Given the description of an element on the screen output the (x, y) to click on. 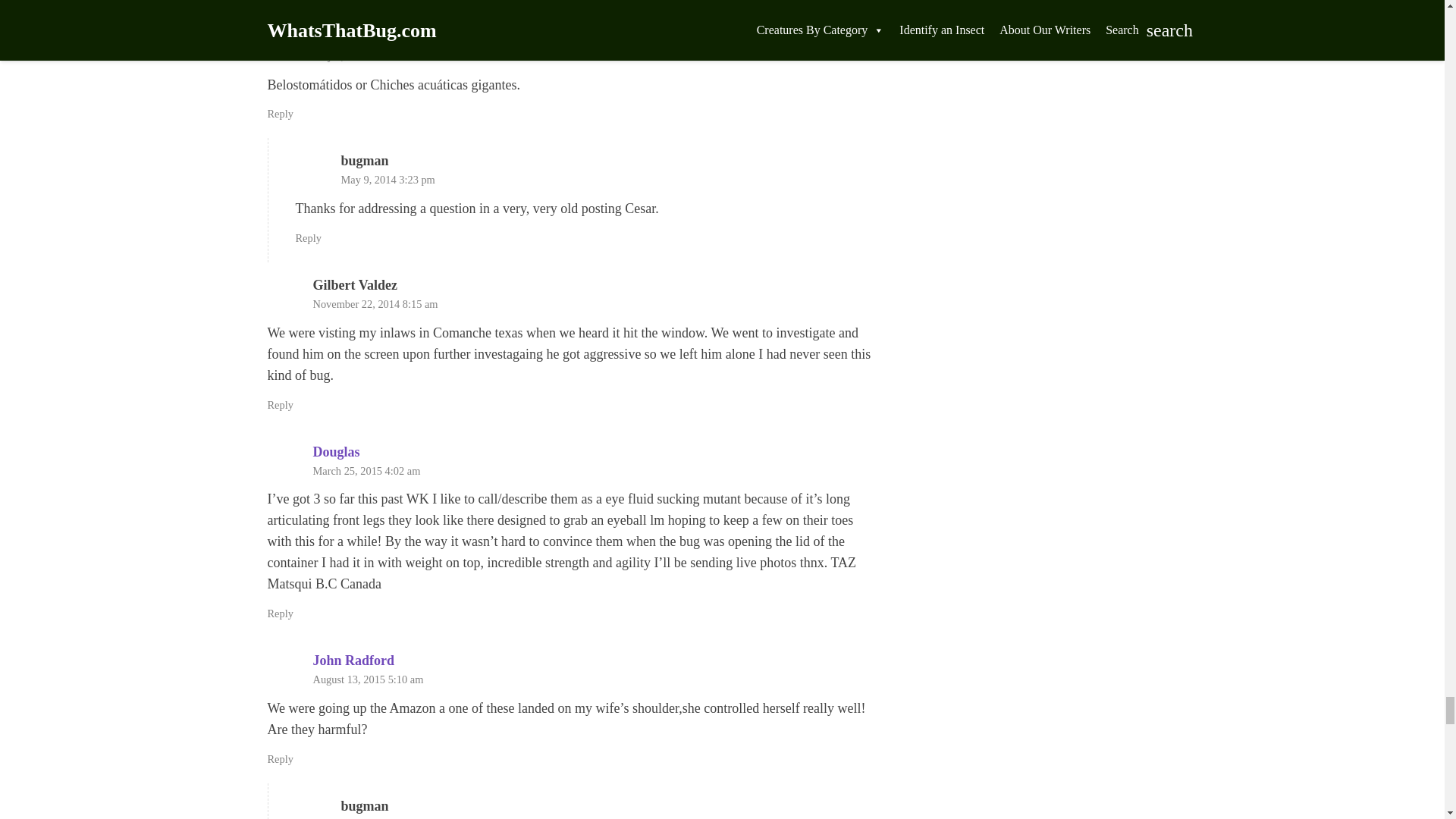
March 25, 2015 4:02 am (366, 470)
November 22, 2014 8:15 am (375, 304)
May 9, 2014 8:46 am (359, 55)
May 9, 2014 3:23 pm (387, 179)
August 13, 2015 5:10 am (368, 679)
